Given the description of an element on the screen output the (x, y) to click on. 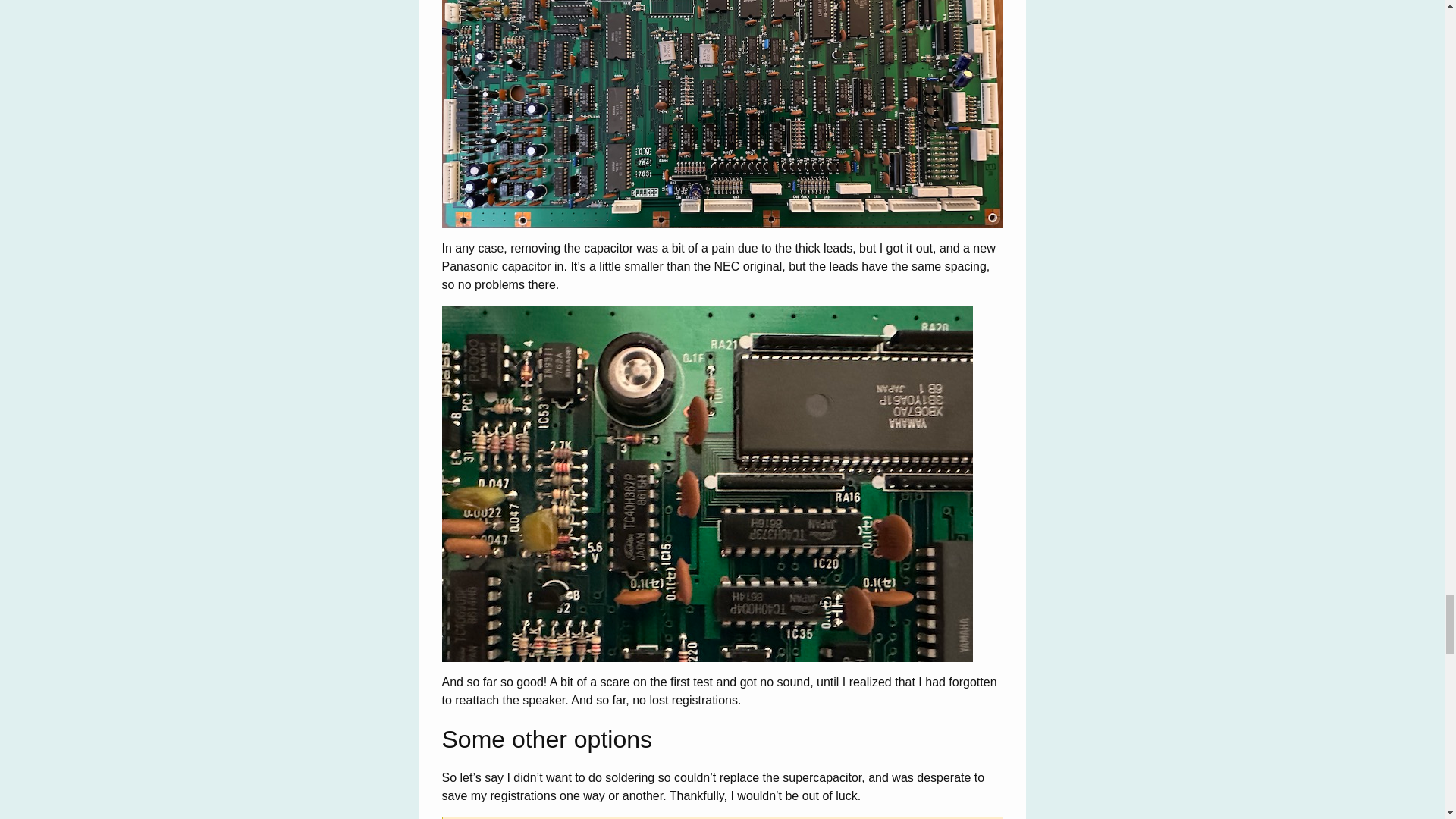
oh boy... no don't keep that up (722, 114)
